Given the description of an element on the screen output the (x, y) to click on. 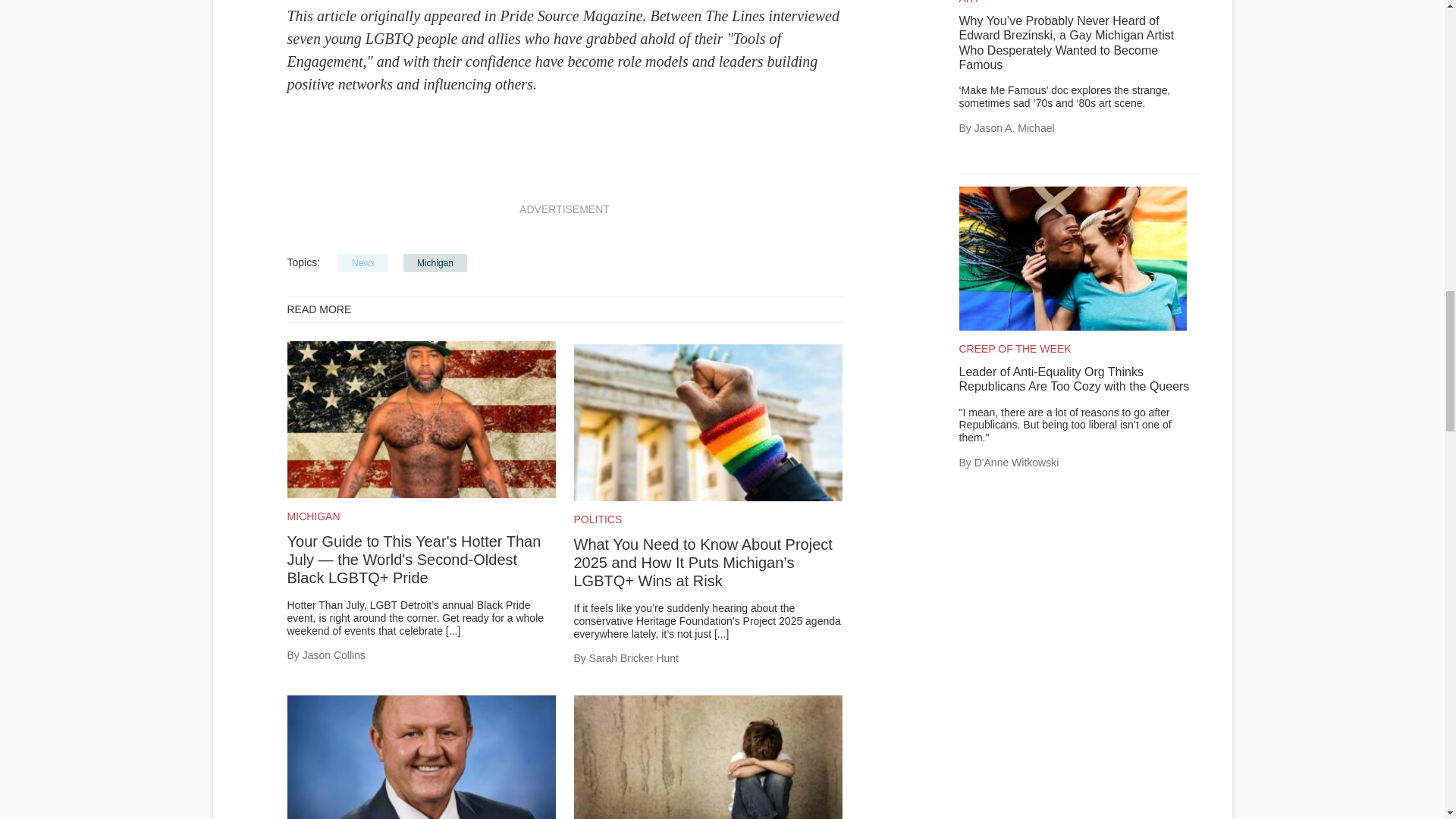
Read More (452, 630)
Read More (721, 633)
